Given the description of an element on the screen output the (x, y) to click on. 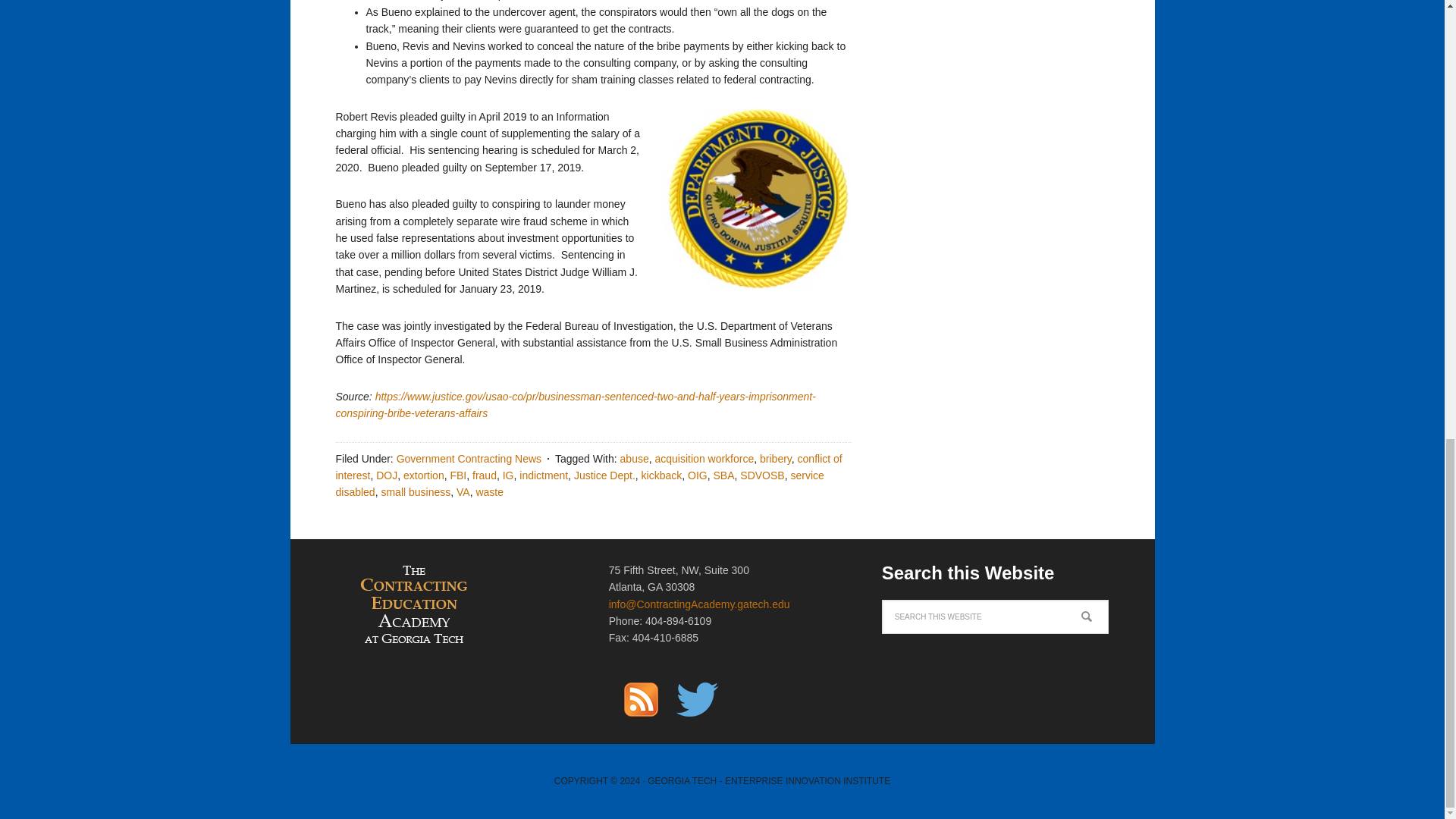
VA (463, 491)
bribery (776, 458)
extortion (423, 475)
FBI (457, 475)
service disabled (579, 483)
SBA (724, 475)
abuse (634, 458)
OIG (697, 475)
indictment (543, 475)
waste (489, 491)
